Given the description of an element on the screen output the (x, y) to click on. 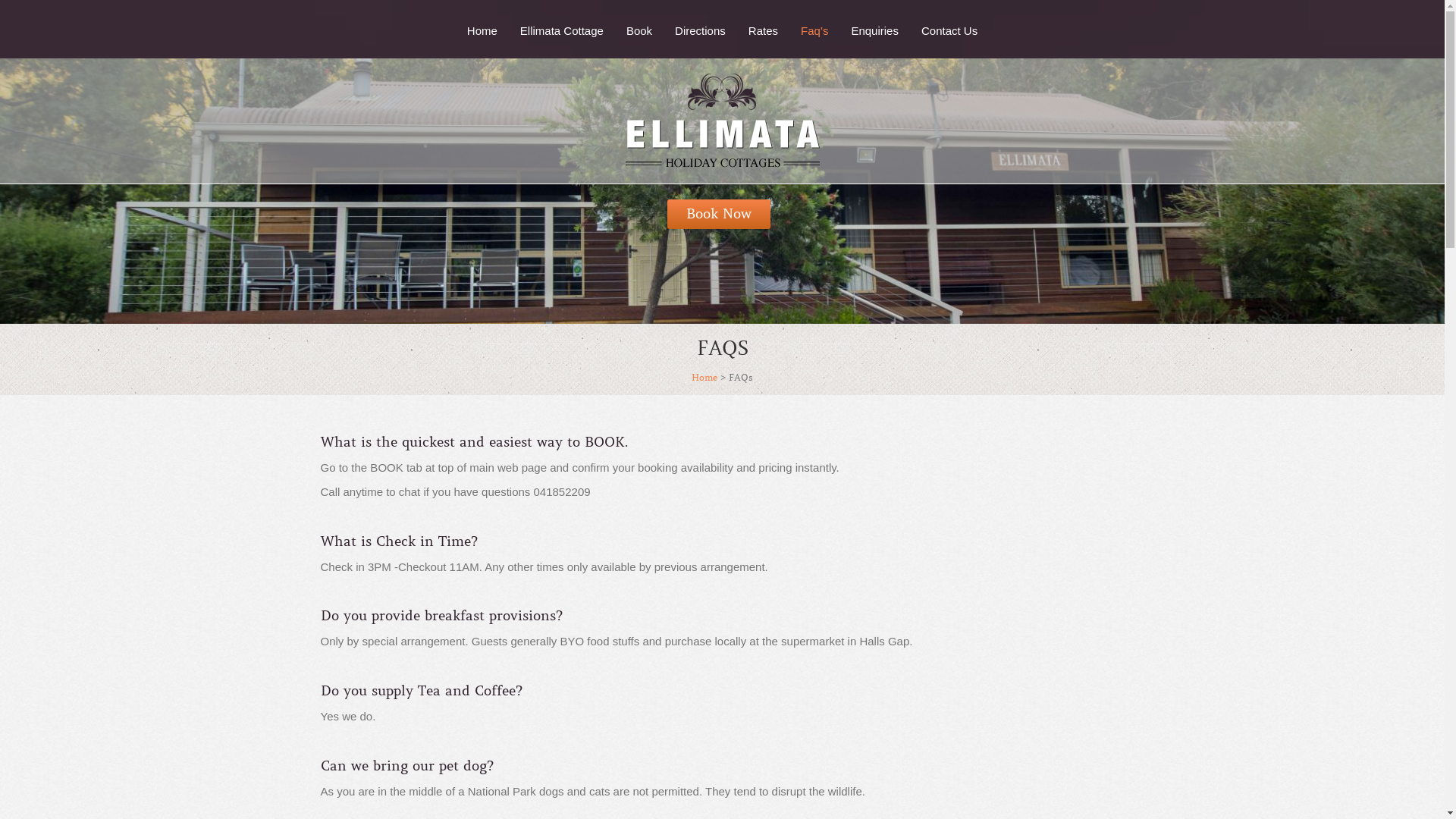
Home Element type: text (481, 31)
Home Element type: text (704, 376)
Book Now Element type: text (718, 214)
Enquiries Element type: text (874, 31)
Contact Us Element type: text (949, 31)
Rates Element type: text (763, 31)
Directions Element type: text (700, 31)
Ellimata Cottage Element type: text (561, 31)
Logo Element type: hover (721, 120)
Book Element type: text (639, 31)
